Given the description of an element on the screen output the (x, y) to click on. 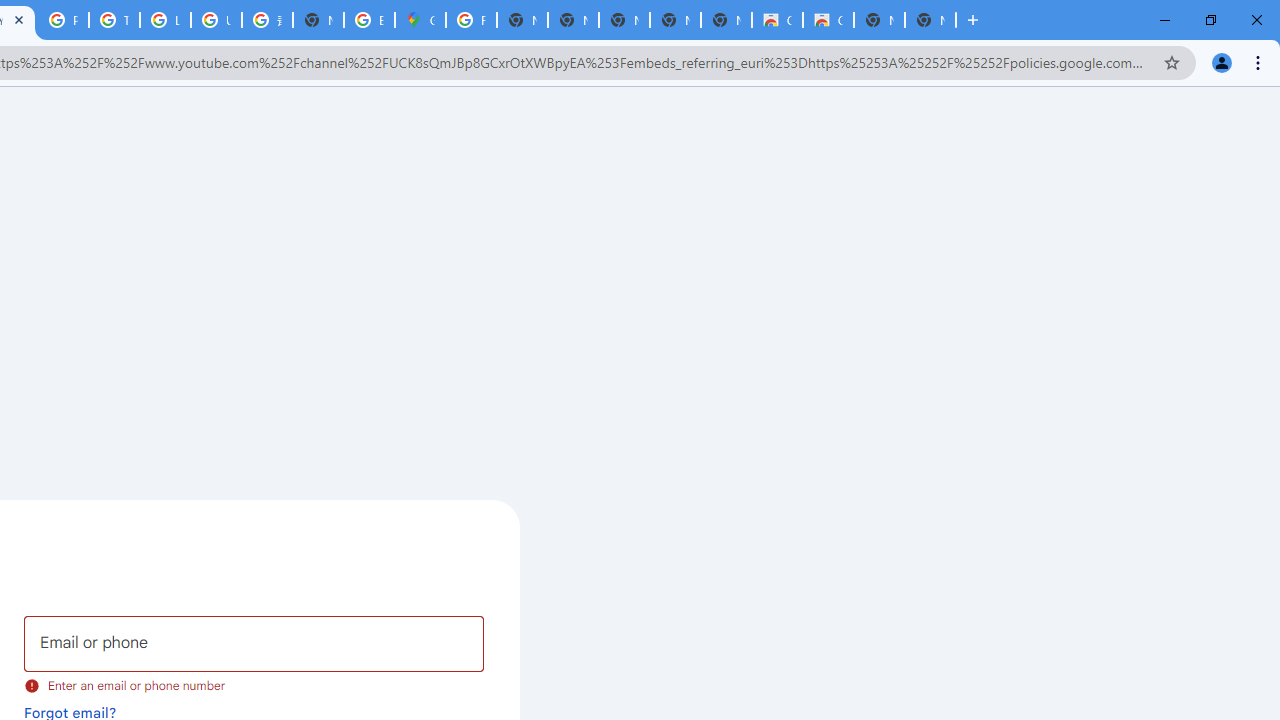
New Tab (318, 20)
Explore new street-level details - Google Maps Help (369, 20)
Classic Blue - Chrome Web Store (827, 20)
Classic Blue - Chrome Web Store (776, 20)
Tips & tricks for Chrome - Google Chrome Help (113, 20)
Google Maps (420, 20)
